Given the description of an element on the screen output the (x, y) to click on. 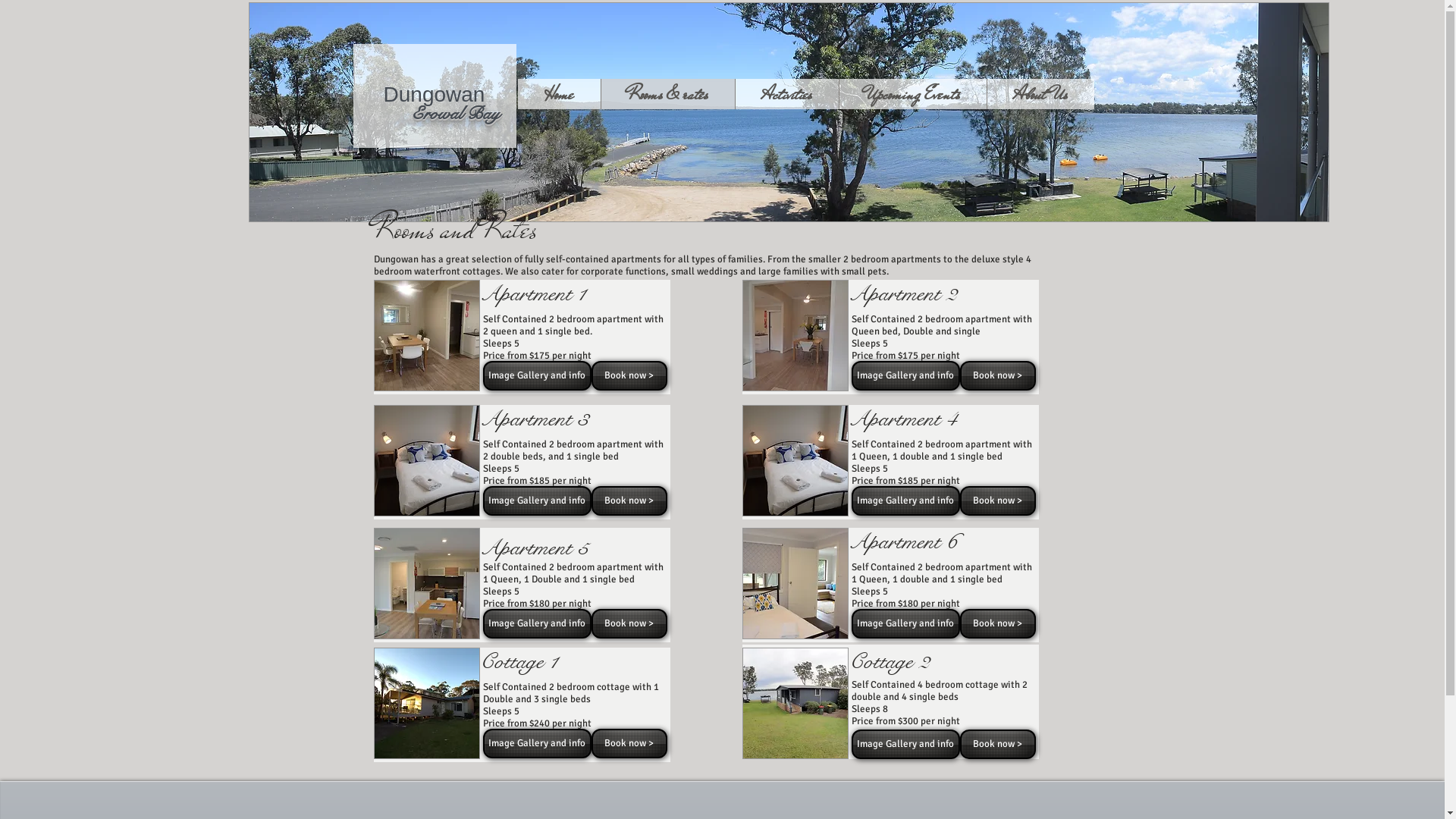
Book now > Element type: text (629, 623)
Image Gallery and info Element type: text (536, 500)
Rooms & rates Element type: text (667, 93)
Book now > Element type: text (997, 623)
Book now > Element type: text (629, 500)
About Us Element type: text (1039, 93)
Image Gallery and info Element type: text (904, 375)
Image Gallery and info Element type: text (904, 744)
Book now > Element type: text (997, 375)
P5311024.JPG Element type: hover (426, 335)
Book now > Element type: text (997, 744)
P6230351.JPG Element type: hover (794, 703)
PA261369.JPG Element type: hover (426, 460)
PA261369.JPG Element type: hover (794, 460)
Book now > Element type: text (629, 743)
Image Gallery and info Element type: text (536, 375)
Activities Element type: text (785, 93)
Book now > Element type: text (629, 375)
Image Gallery and info Element type: text (904, 623)
Home Element type: text (558, 93)
Image Gallery and info Element type: text (536, 623)
Image Gallery and info Element type: text (536, 743)
PB300261.JPG Element type: hover (794, 335)
Image Gallery and info Element type: text (904, 500)
Book now > Element type: text (997, 500)
Upcoming Events Element type: text (912, 93)
14718430061_63df021671_o.jpg Element type: hover (788, 112)
